Given the description of an element on the screen output the (x, y) to click on. 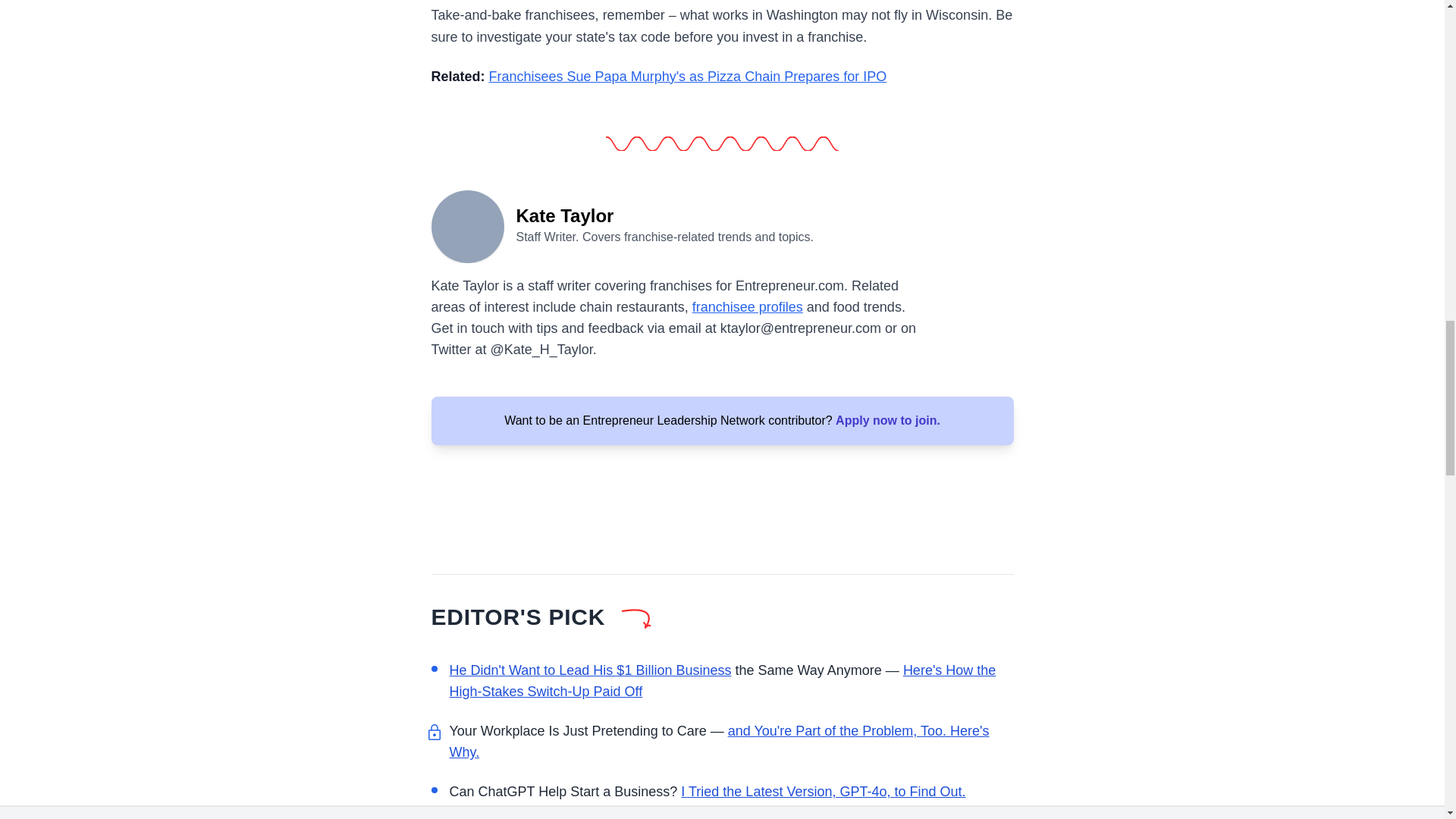
Kate Taylor (466, 224)
